Given the description of an element on the screen output the (x, y) to click on. 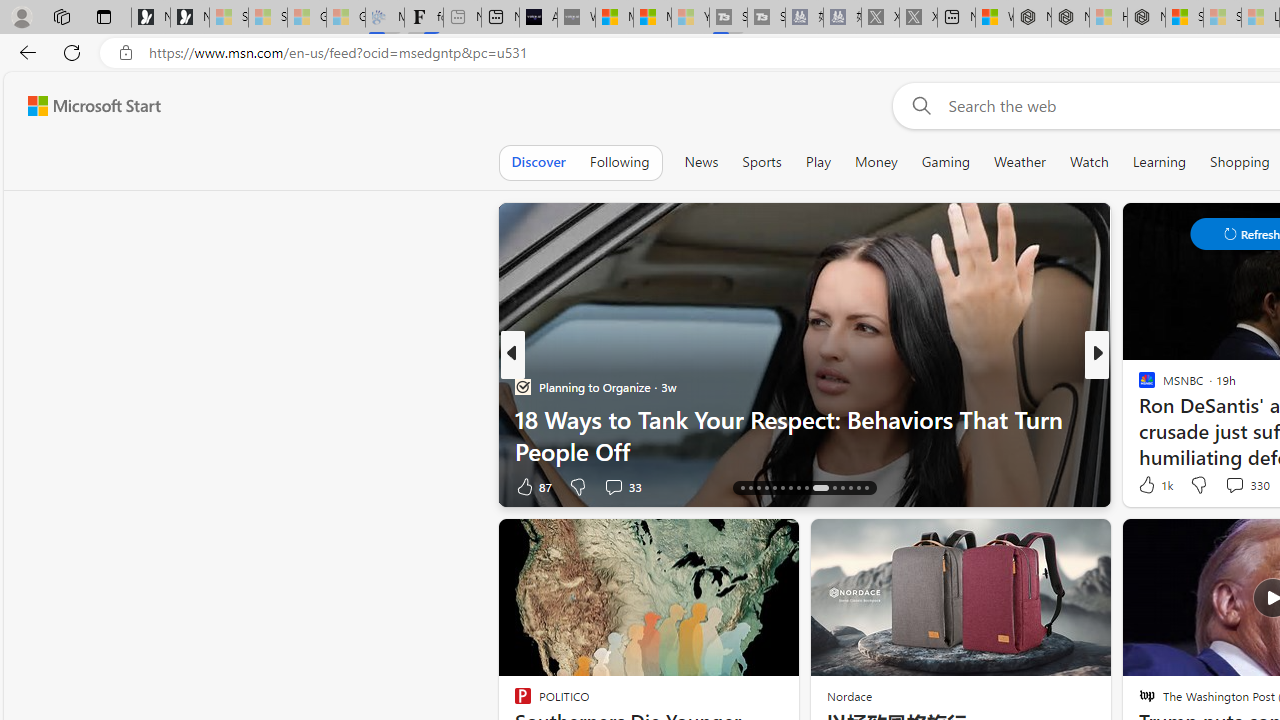
Comments turned off for this story (1222, 486)
View comments 1 Comment (1229, 485)
AI Voice Changer for PC and Mac - Voice.ai (537, 17)
Watch (1089, 161)
Newsletter Sign Up (189, 17)
LGBTQ Nation (1138, 386)
Planning to Organize (522, 386)
AutomationID: tab-25 (820, 487)
91 Like (1149, 486)
Skip to footer (82, 105)
View site information (125, 53)
Following (619, 162)
View comments 266 Comment (1247, 486)
